Given the description of an element on the screen output the (x, y) to click on. 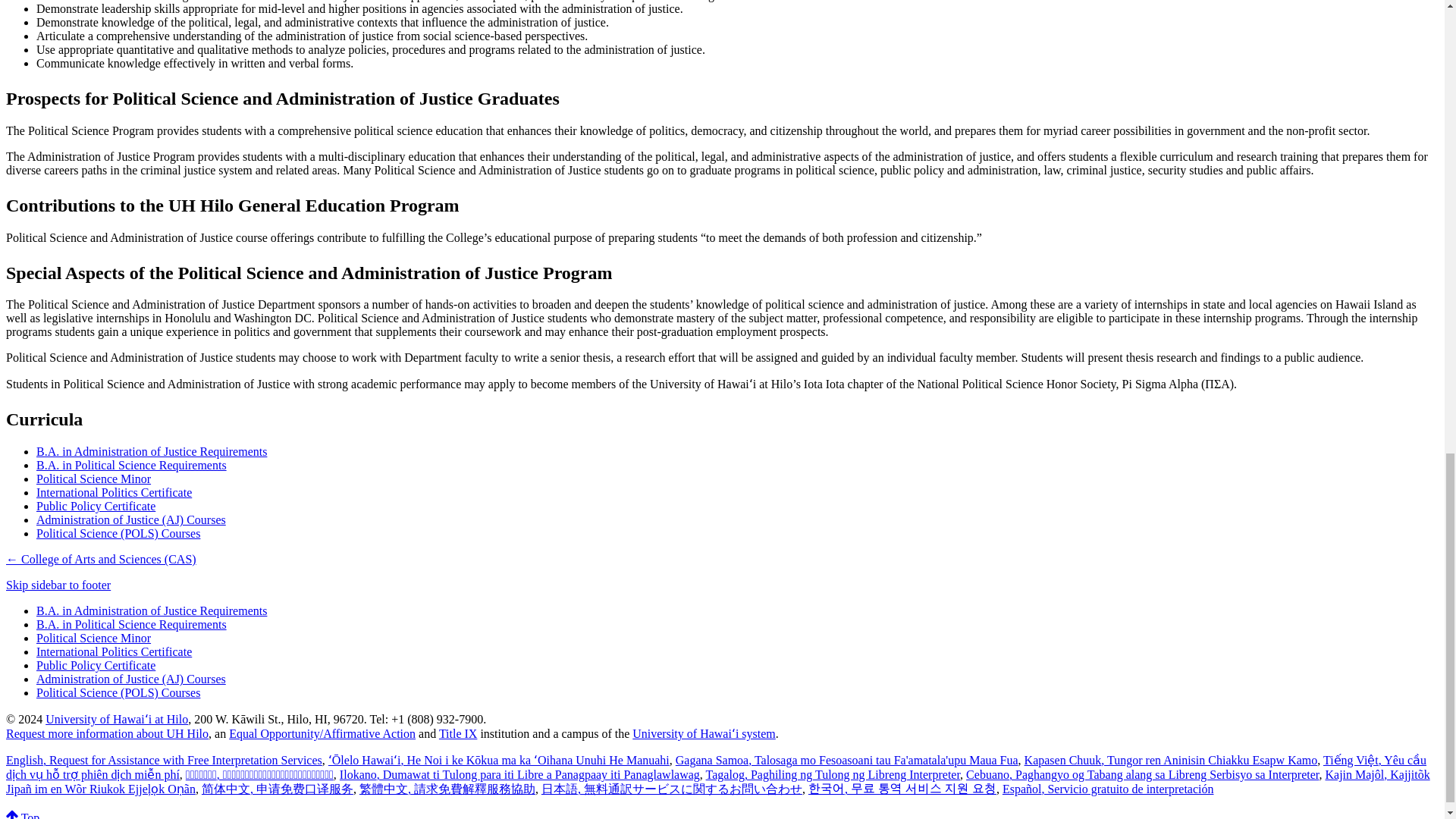
Skip sidebar to footer (57, 584)
International Politics Certificate (114, 492)
Political Science Minor (93, 478)
B.A. in Administration of Justice Requirements (151, 451)
Public Policy Certificate (95, 665)
International Politics Certificate (114, 651)
Public Policy Certificate (95, 505)
Political Science Minor (93, 637)
B.A. in Administration of Justice Requirements (151, 610)
B.A. in Political Science Requirements (131, 464)
B.A. in Political Science Requirements (131, 624)
